Given the description of an element on the screen output the (x, y) to click on. 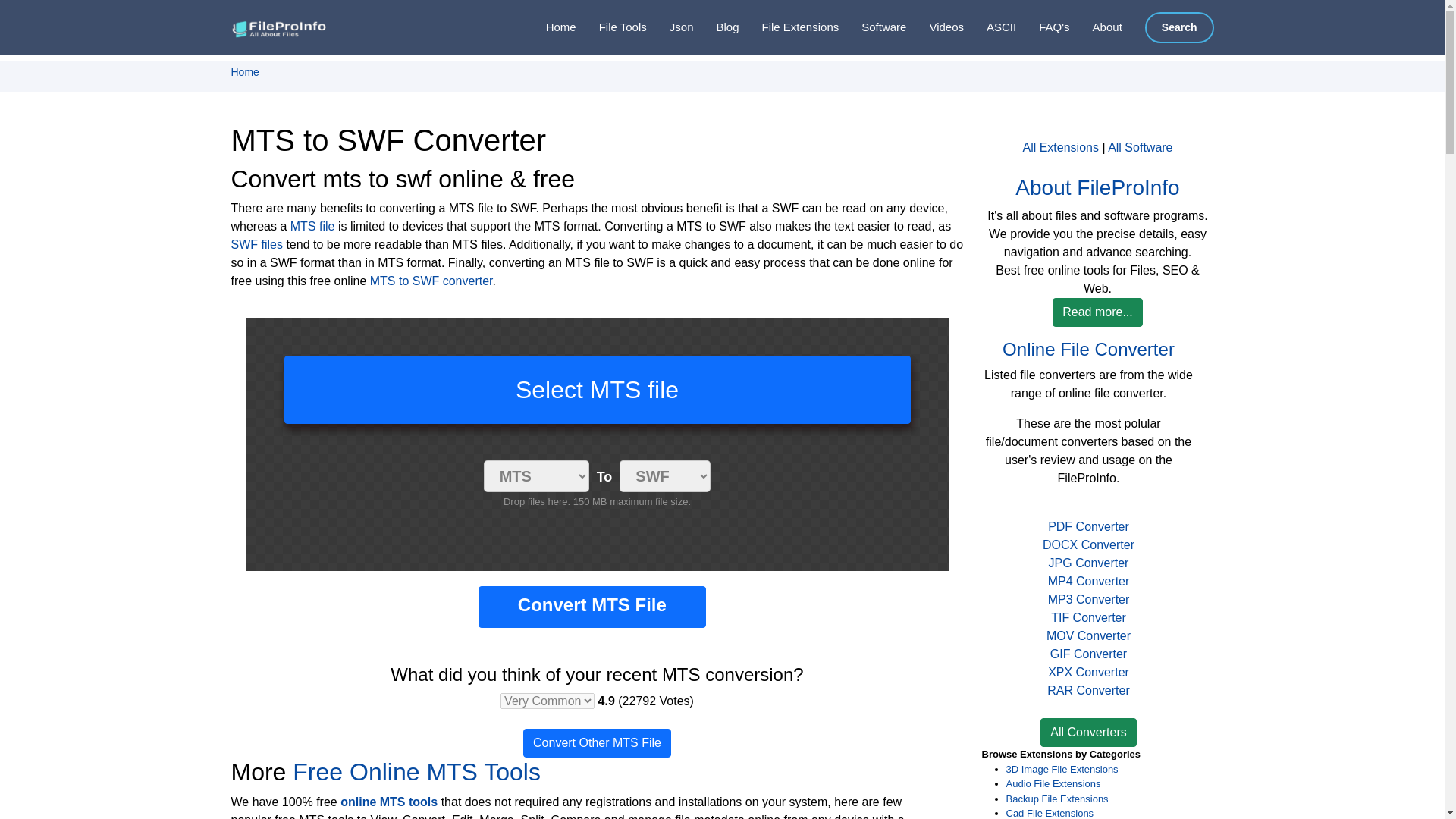
File Extensions (789, 27)
Json (670, 27)
Free Online MTS Tools (416, 771)
FileProInfo tech blog (715, 27)
Secure online document tools (611, 27)
Home (244, 71)
FAQ's (1042, 27)
File Tools (611, 27)
Home (549, 27)
Software (871, 27)
